Given the description of an element on the screen output the (x, y) to click on. 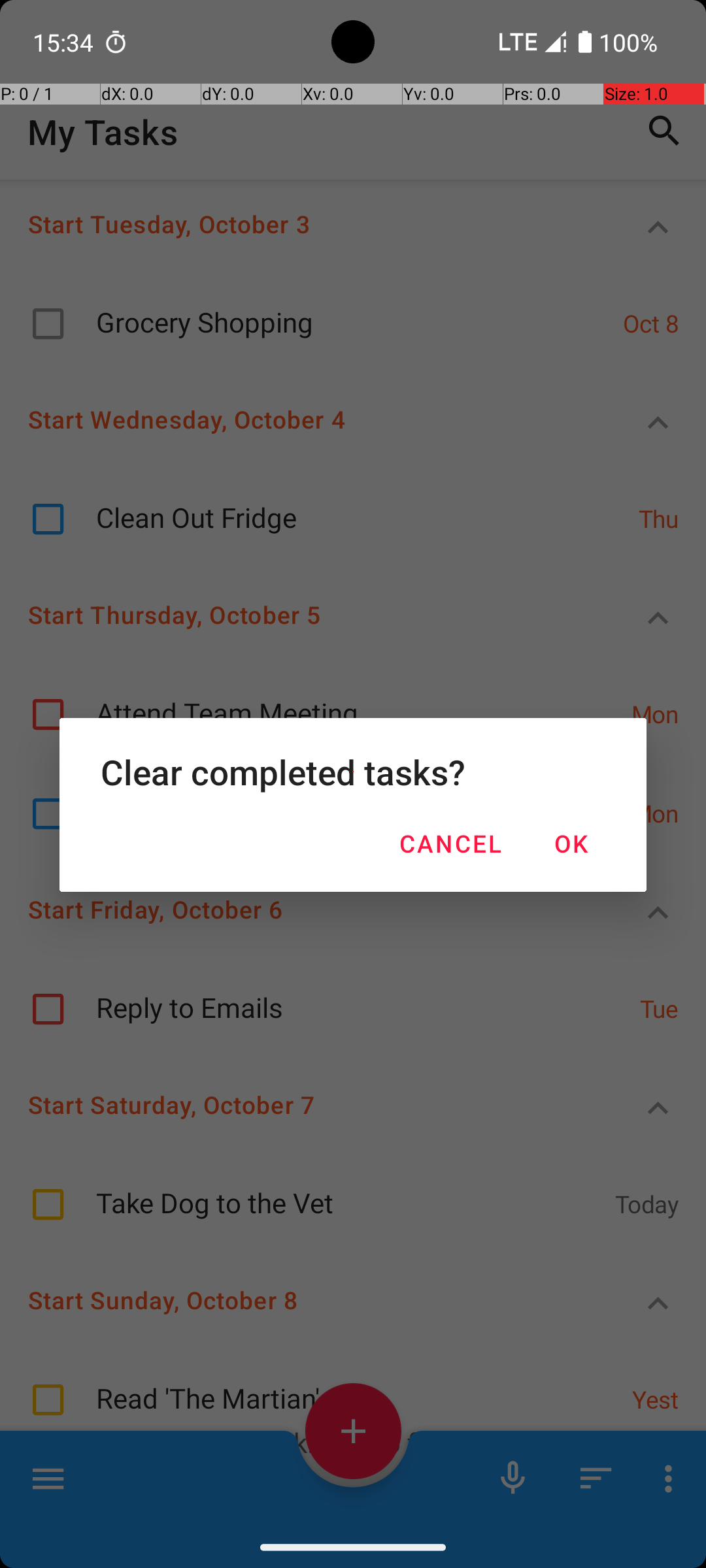
Clear completed tasks? Element type: android.widget.TextView (352, 771)
